Given the description of an element on the screen output the (x, y) to click on. 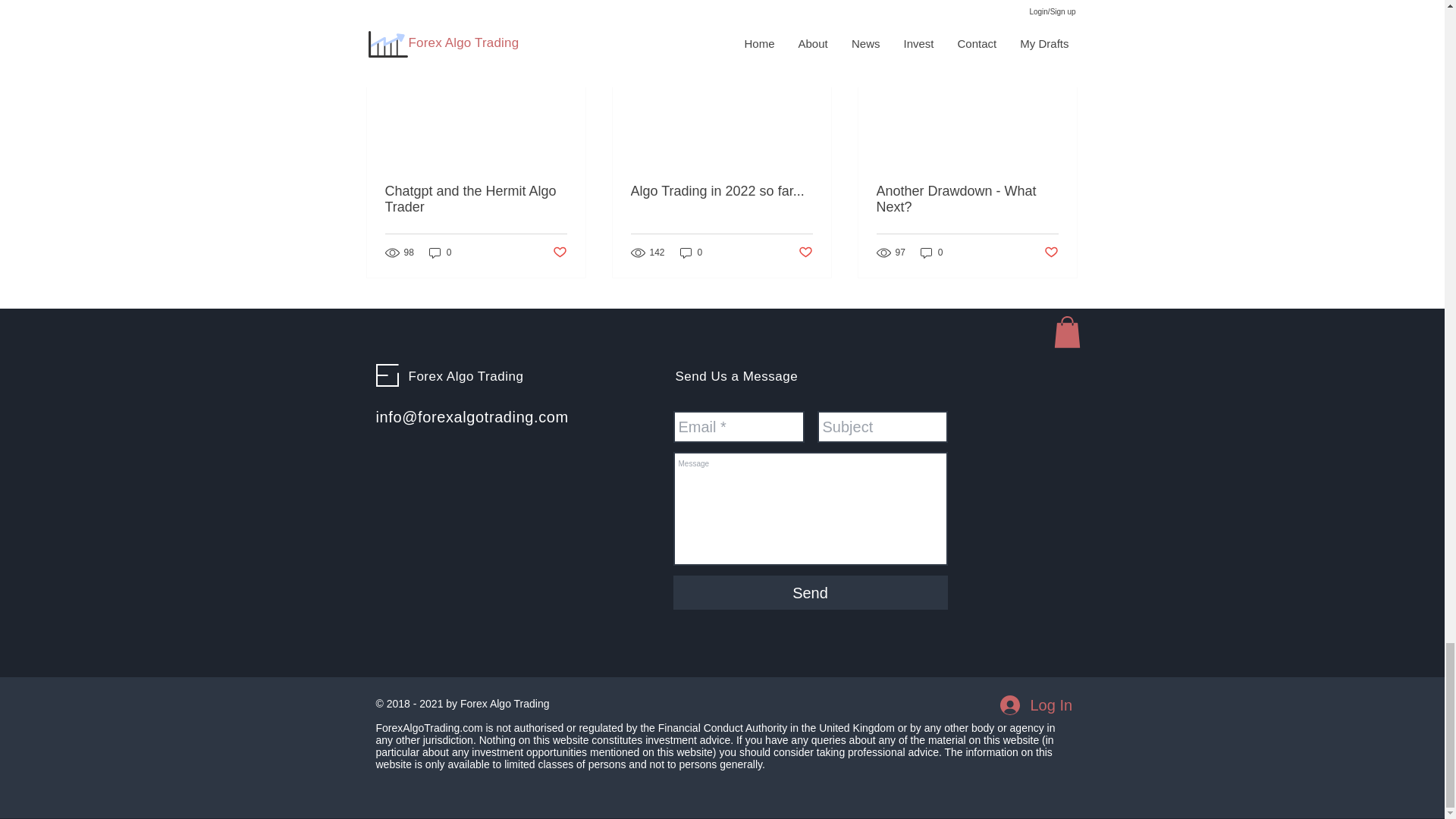
See All (1061, 15)
Chatgpt and the Hermit Algo Trader (476, 199)
Algo Trading in 2022 so far... (721, 191)
0 (691, 252)
Send (809, 592)
Log In (1034, 705)
0 (440, 252)
Post not marked as liked (558, 252)
Post not marked as liked (804, 252)
Forex Algo Trading (464, 376)
Post not marked as liked (1050, 252)
0 (931, 252)
Another Drawdown - What Next? (967, 199)
